Given the description of an element on the screen output the (x, y) to click on. 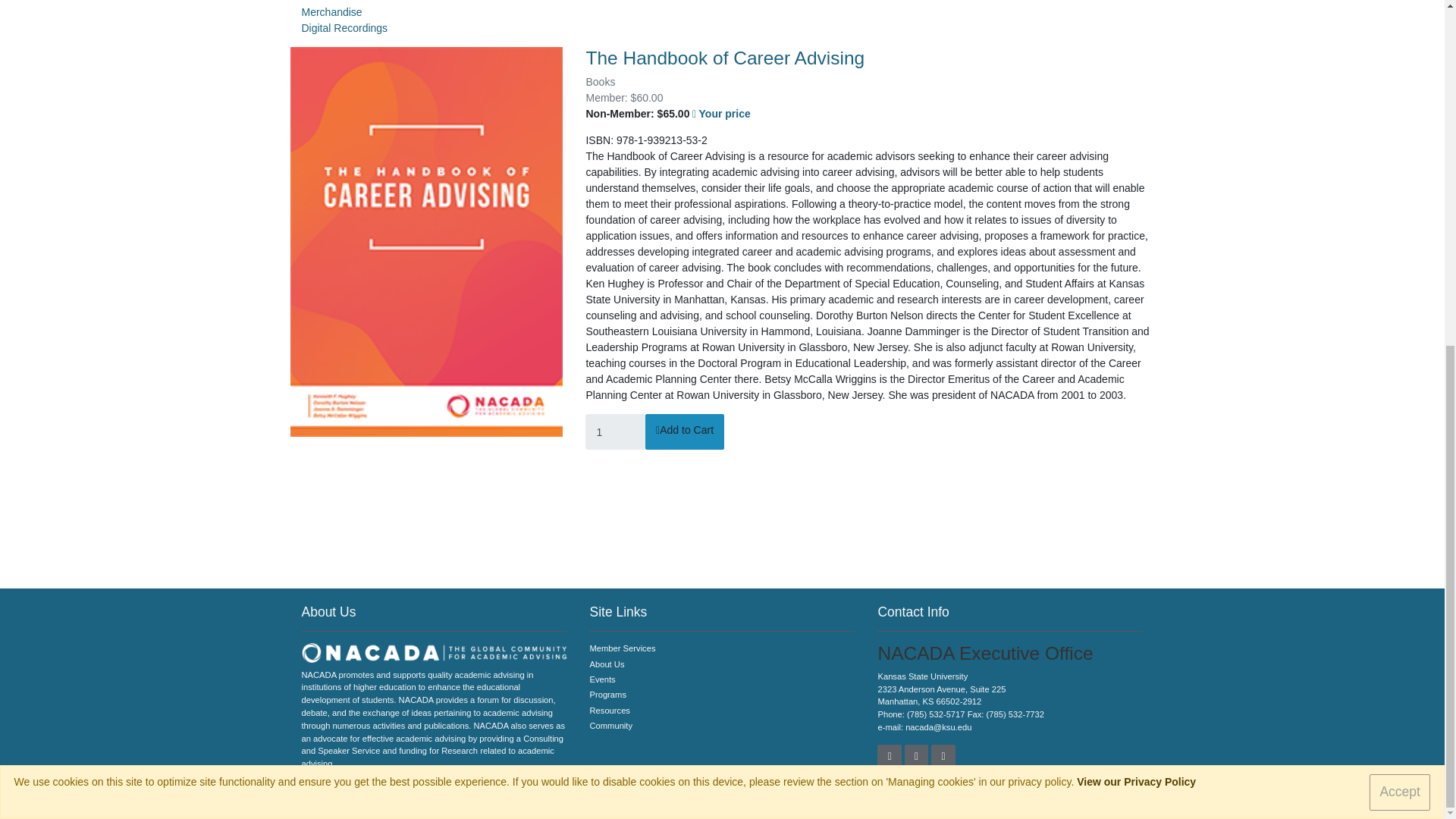
Digital Recordings (344, 28)
Programs (721, 694)
Add to Cart (684, 432)
Member Services (721, 648)
Resources (721, 710)
Community (721, 725)
Merchandise (331, 11)
Pocket Guides (336, 1)
Events (721, 679)
About Us (721, 664)
